Given the description of an element on the screen output the (x, y) to click on. 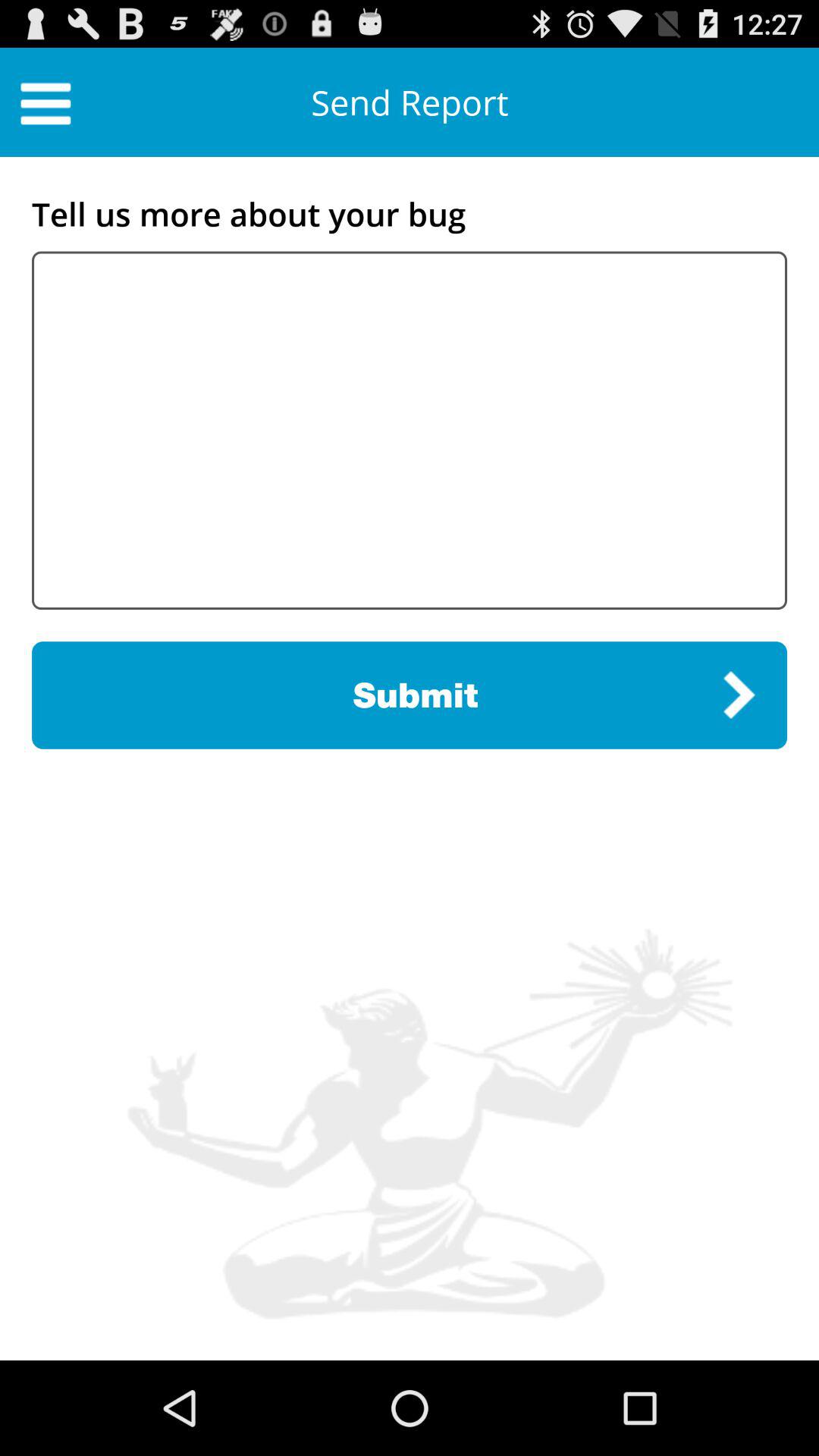
enter description for your blog (409, 430)
